Given the description of an element on the screen output the (x, y) to click on. 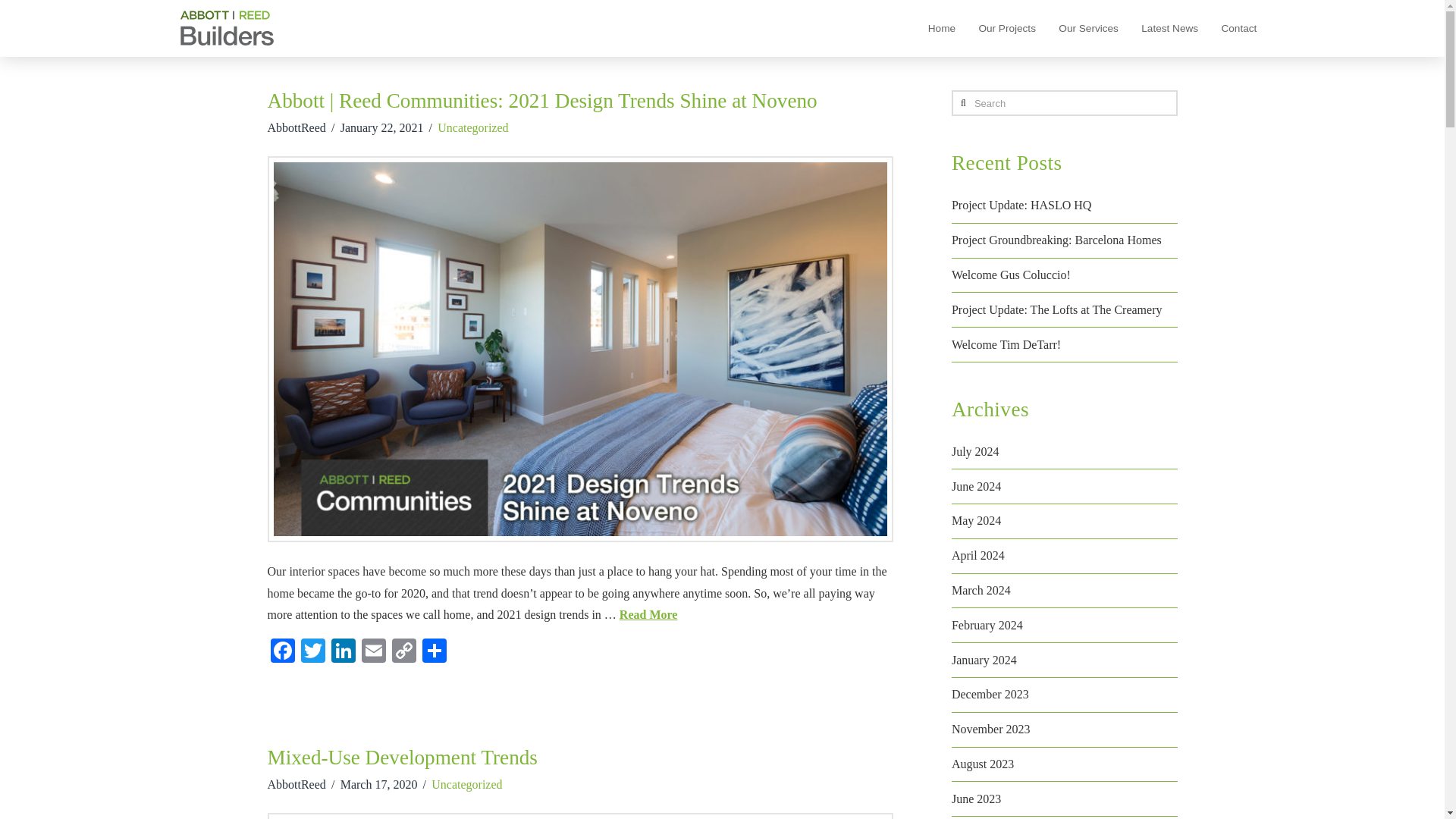
Uncategorized (473, 127)
Our Services (1087, 28)
Facebook (281, 652)
Facebook (281, 652)
Share (433, 652)
Contact (1238, 28)
LinkedIn (342, 652)
Latest News (1169, 28)
Permalink to: "Mixed-Use Development Trends" (401, 757)
LinkedIn (342, 652)
Uncategorized (466, 784)
Copy Link (403, 652)
Twitter (312, 652)
Email (373, 652)
Home (942, 28)
